Given the description of an element on the screen output the (x, y) to click on. 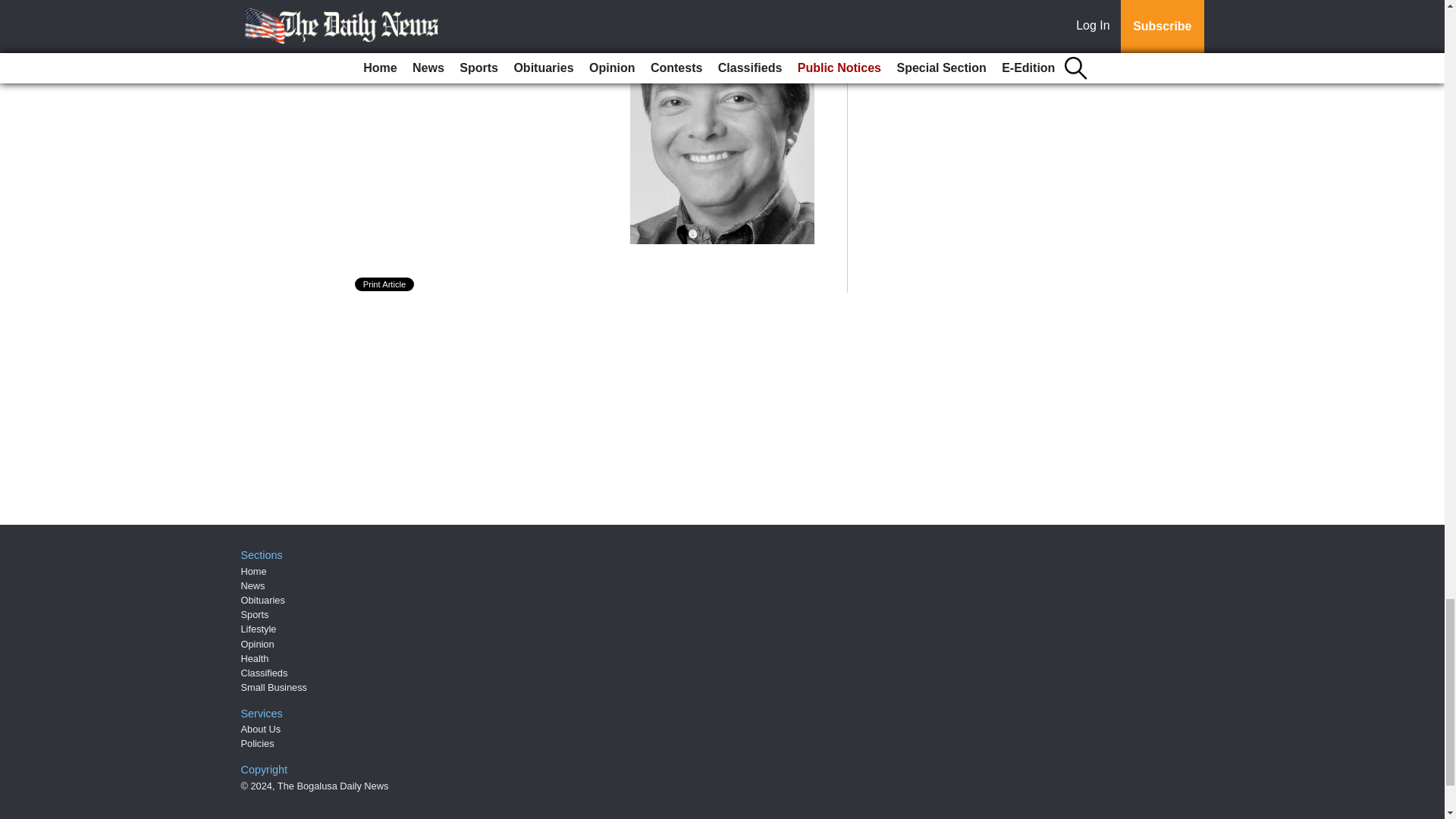
Print Article (384, 284)
Home (253, 571)
Obituaries (263, 600)
Sports (255, 614)
News (252, 585)
Lifestyle (258, 628)
Opinion (258, 644)
